Given the description of an element on the screen output the (x, y) to click on. 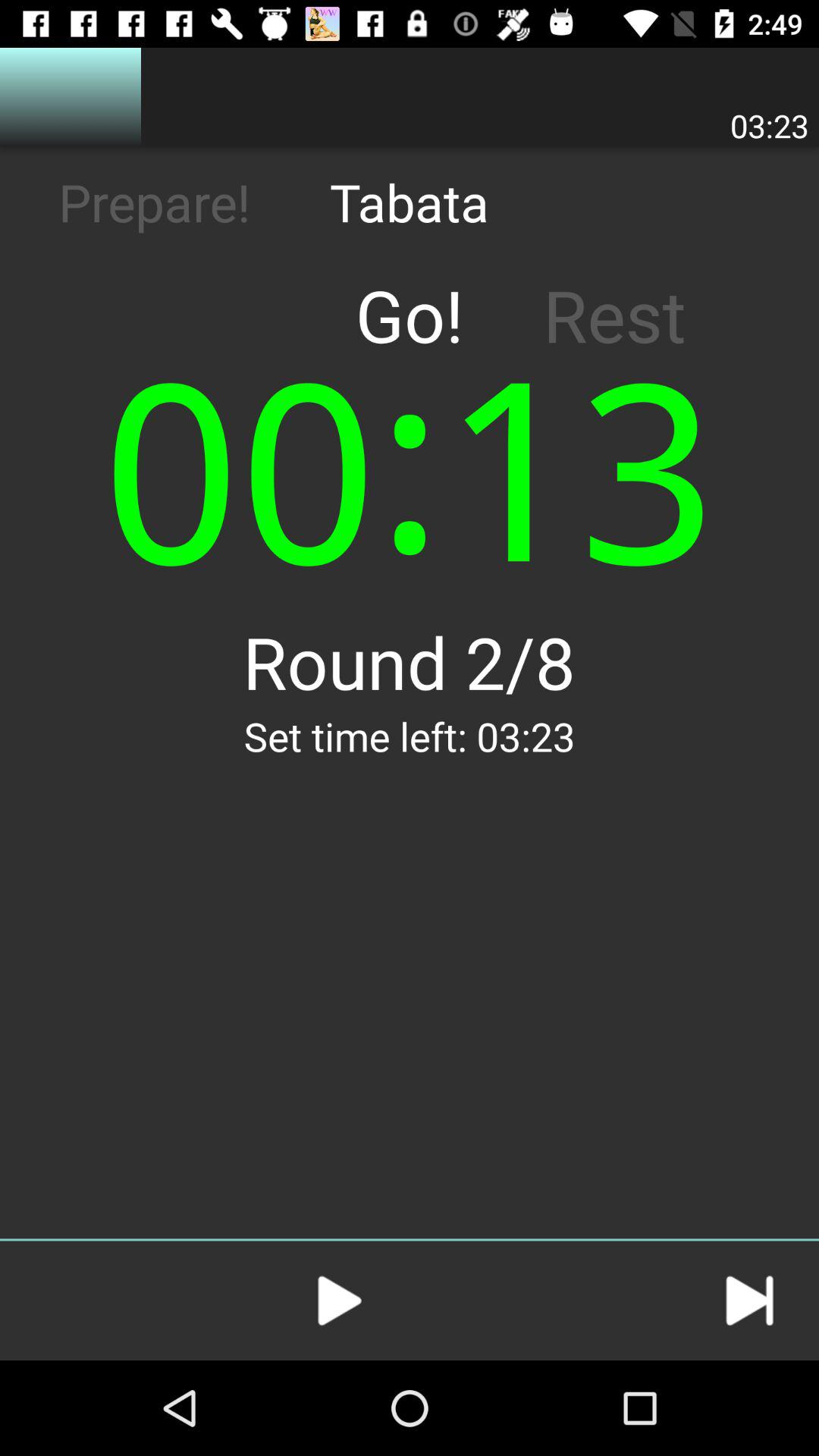
fast forward (749, 1300)
